Given the description of an element on the screen output the (x, y) to click on. 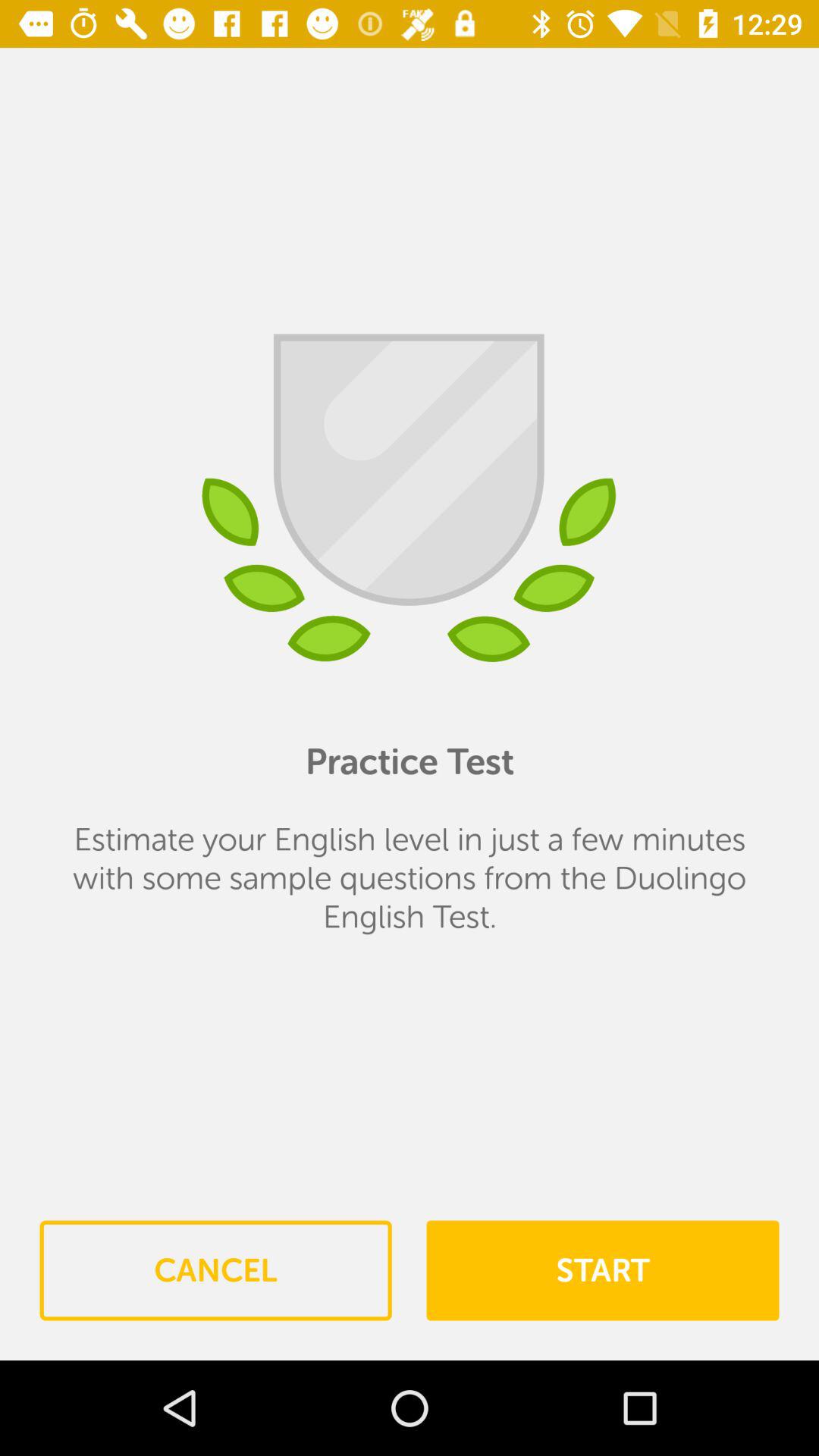
press icon to the right of the cancel item (602, 1270)
